Given the description of an element on the screen output the (x, y) to click on. 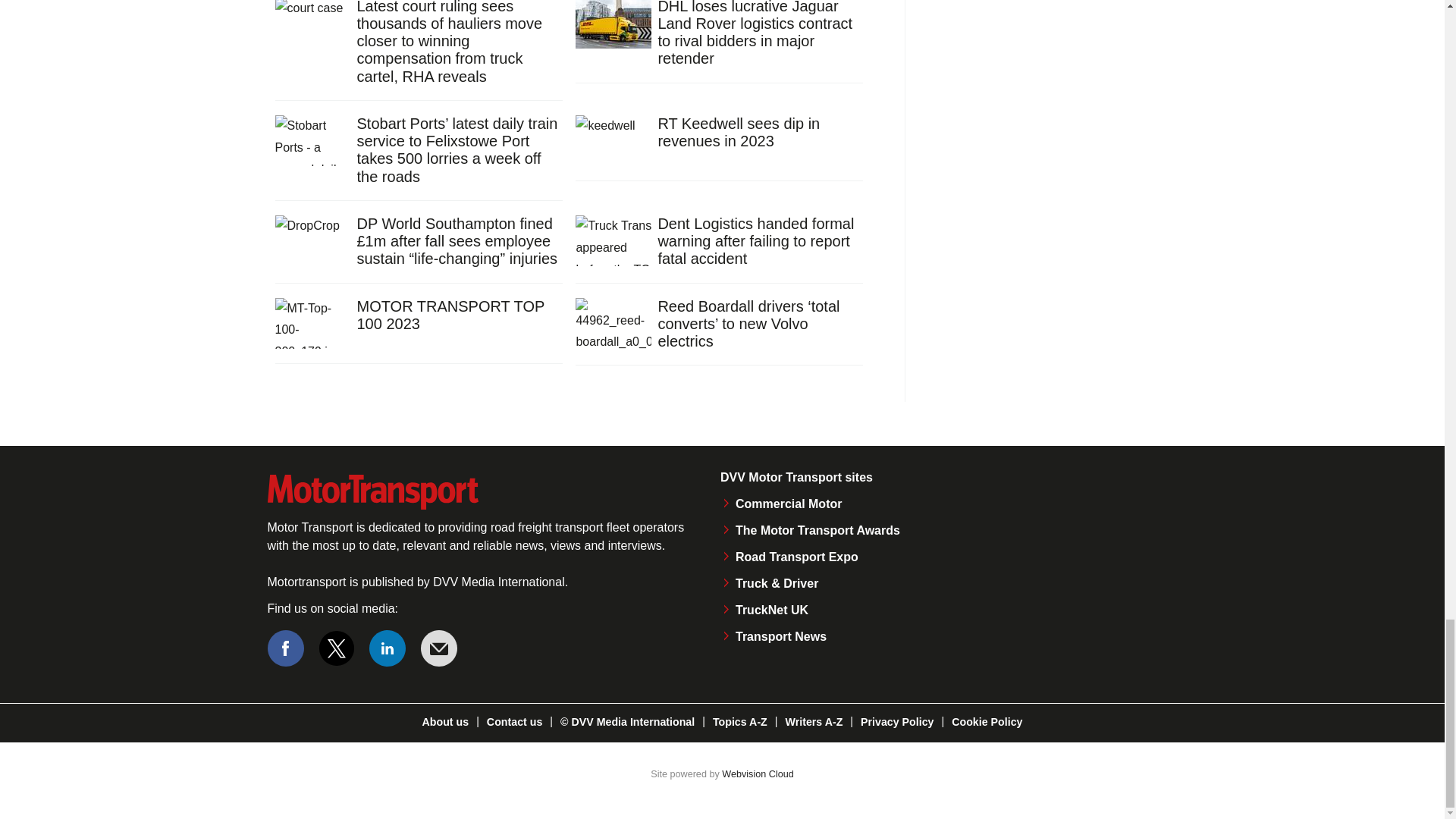
Email us (438, 647)
Connect with us on Twitter (336, 647)
Connect with us on Linked in (387, 647)
Connect with us on Facebook (284, 647)
